Given the description of an element on the screen output the (x, y) to click on. 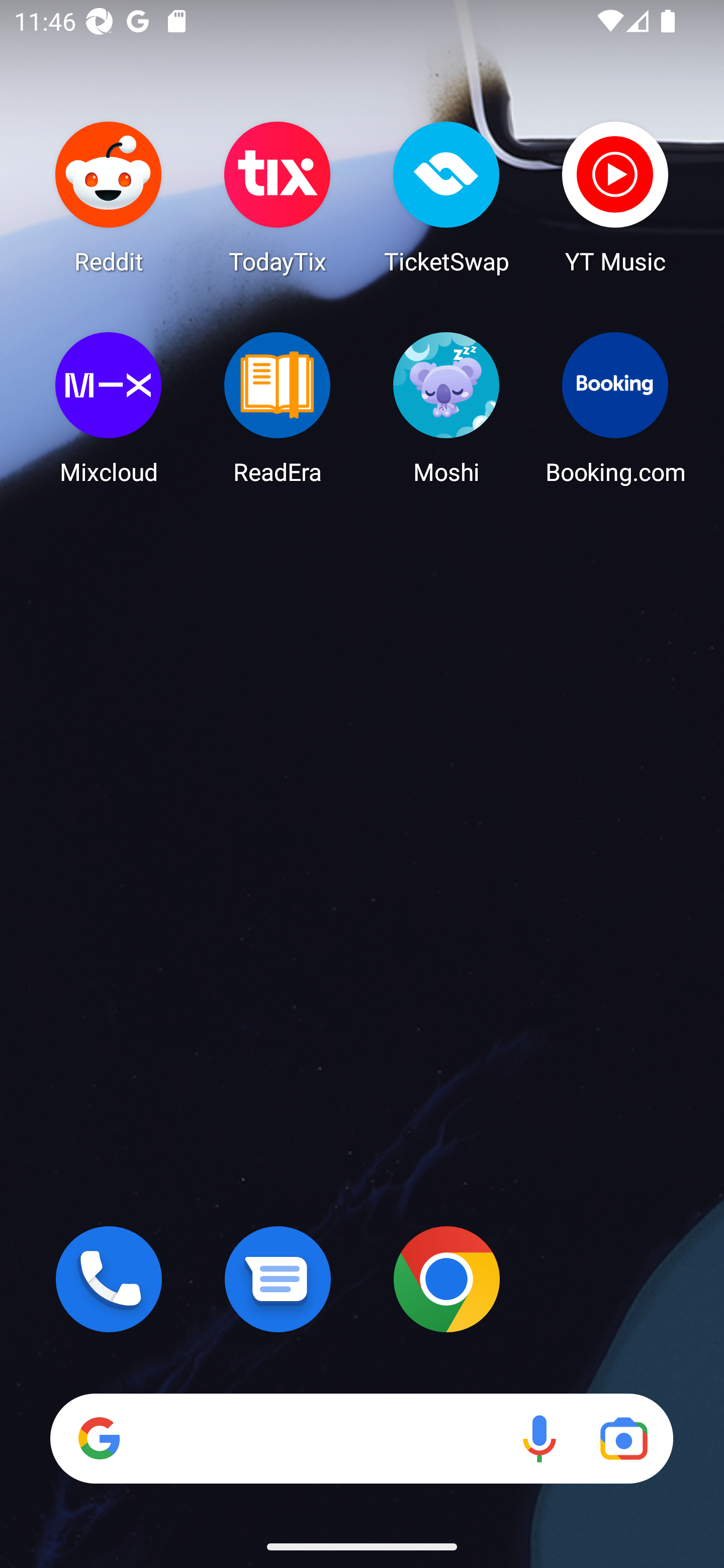
Reddit (108, 196)
TodayTix (277, 196)
TicketSwap (445, 196)
YT Music (615, 196)
Mixcloud (108, 407)
ReadEra (277, 407)
Moshi (445, 407)
Booking.com (615, 407)
Phone (108, 1279)
Messages (277, 1279)
Chrome (446, 1279)
Search Voice search Google Lens (361, 1438)
Voice search (539, 1438)
Google Lens (623, 1438)
